Given the description of an element on the screen output the (x, y) to click on. 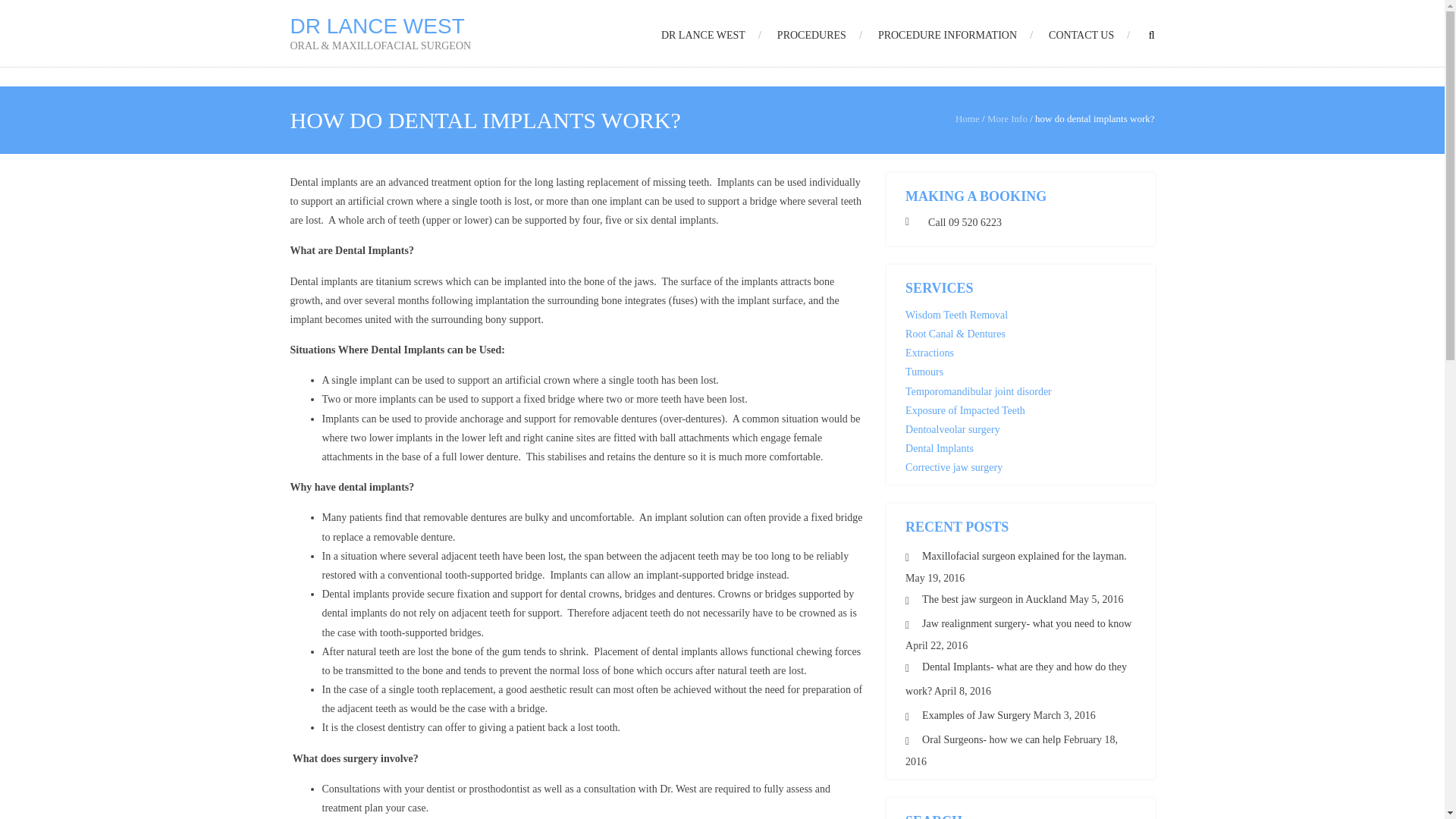
DR LANCE WEST (711, 35)
PROCEDURE INFORMATION (954, 35)
PROCEDURES (819, 35)
CONTACT US (1088, 35)
